Given the description of an element on the screen output the (x, y) to click on. 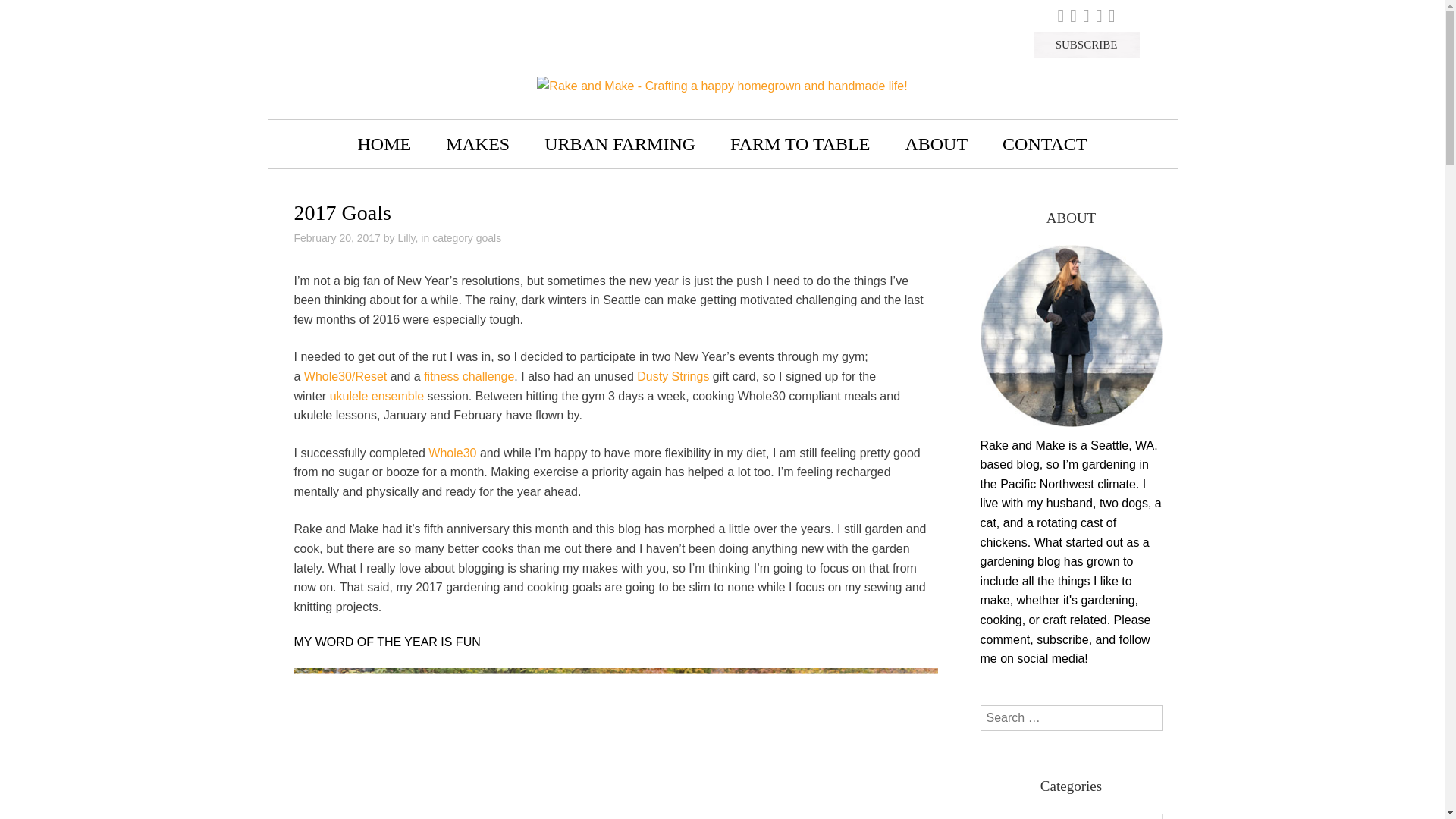
MAKES (477, 143)
Lilly (405, 237)
SUBSCRIBE (1085, 44)
goals (488, 237)
Whole30 (452, 452)
FARM TO TABLE (799, 143)
CONTACT (1044, 143)
SKIP TO CONTENT (307, 133)
ABOUT (935, 143)
February 20, 2017 (337, 237)
URBAN FARMING (619, 143)
HOME (384, 143)
ukulele ensemble (377, 395)
Dusty Strings (673, 376)
fitness challenge (468, 376)
